Given the description of an element on the screen output the (x, y) to click on. 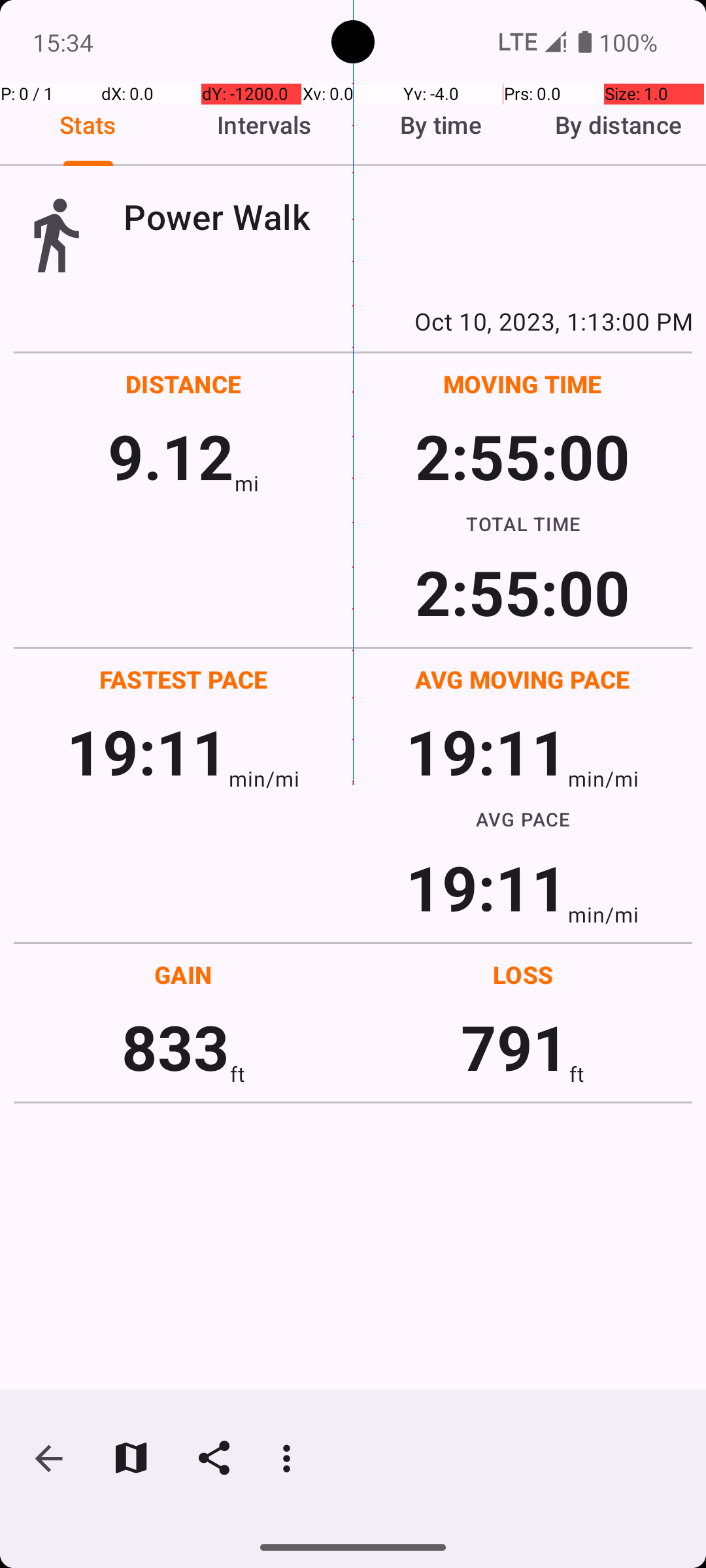
Power Walk Element type: android.widget.TextView (407, 216)
Oct 10, 2023, 1:13:00 PM Element type: android.widget.TextView (352, 320)
9.12 Element type: android.widget.TextView (170, 455)
2:55:00 Element type: android.widget.TextView (522, 455)
19:11 Element type: android.widget.TextView (147, 750)
833 Element type: android.widget.TextView (175, 1045)
791 Element type: android.widget.TextView (514, 1045)
